Given the description of an element on the screen output the (x, y) to click on. 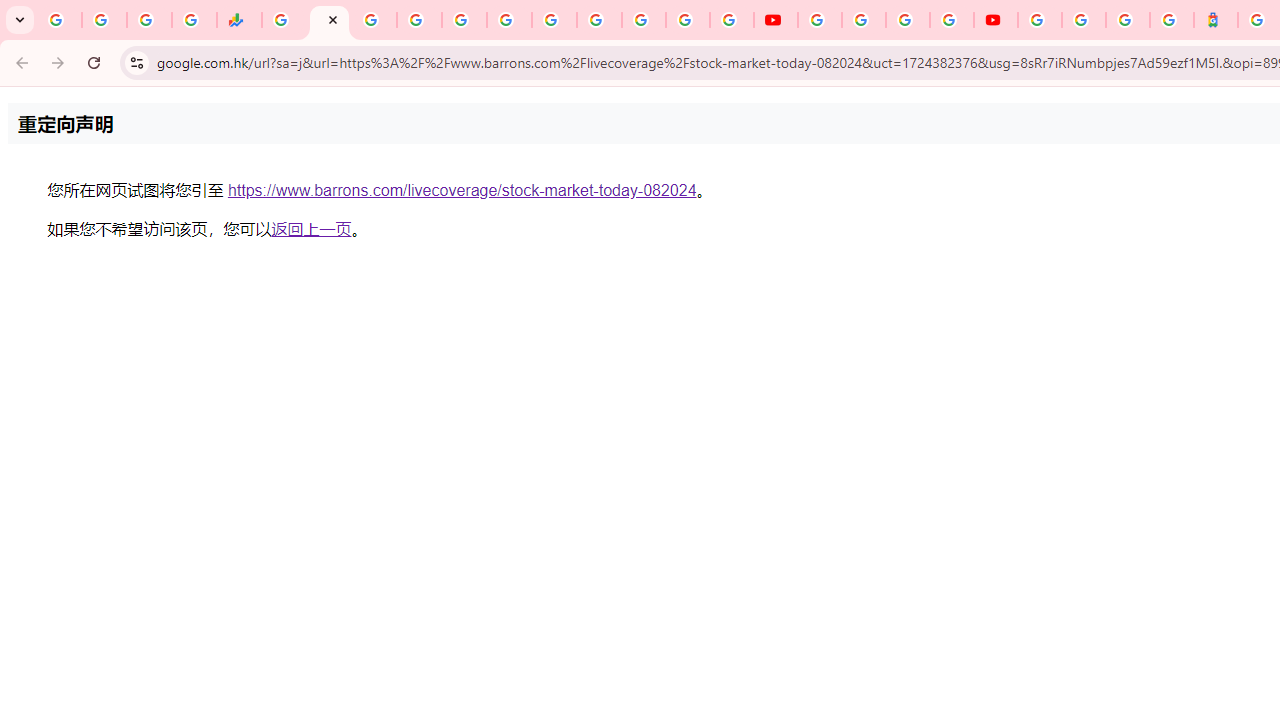
Google Workspace Admin Community (59, 20)
Sign in - Google Accounts (1039, 20)
Android TV Policies and Guidelines - Transparency Center (554, 20)
Create your Google Account (907, 20)
Sign in - Google Accounts (643, 20)
